Given the description of an element on the screen output the (x, y) to click on. 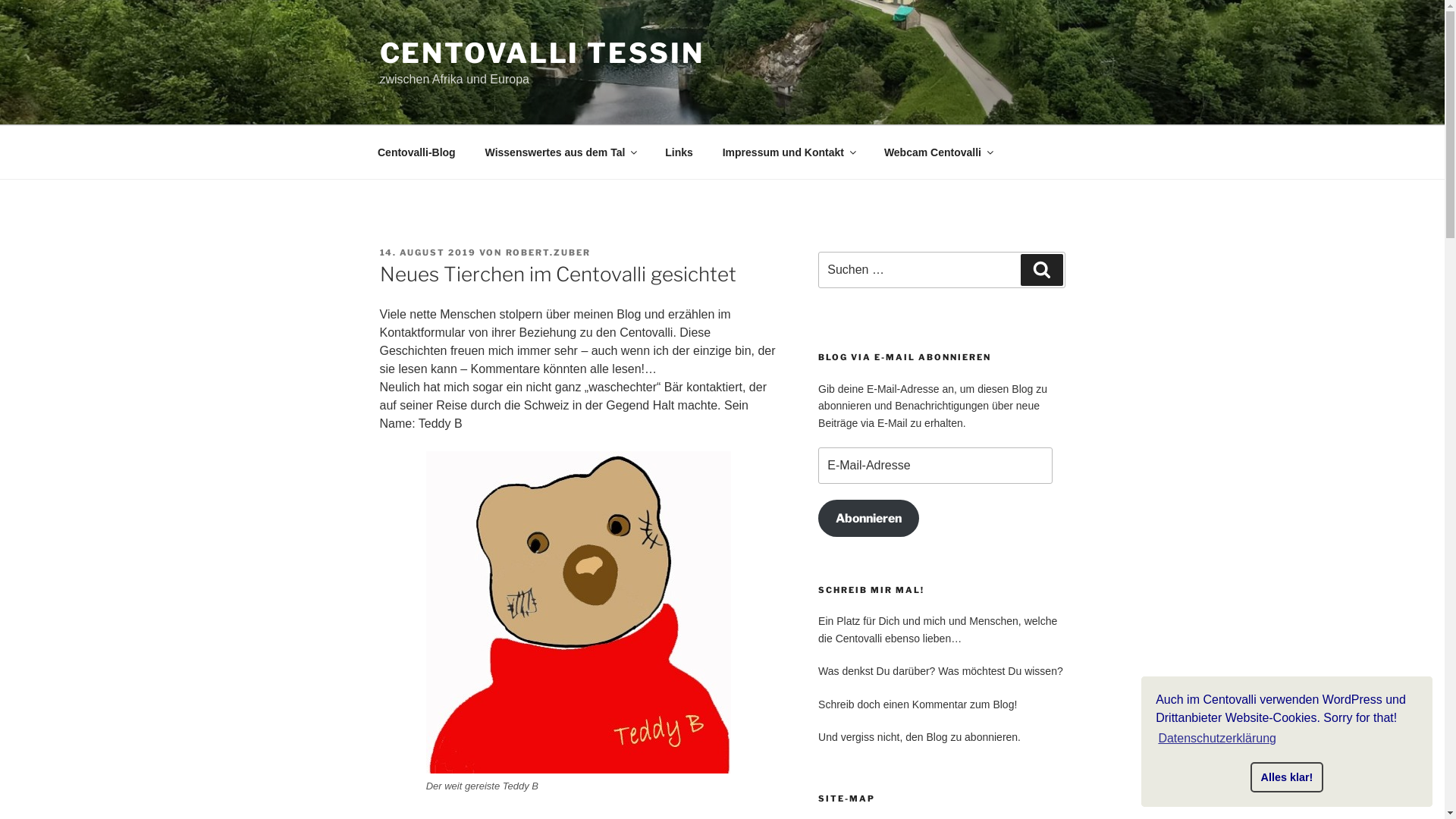
Suchen Element type: text (1041, 269)
Impressum und Kontakt Element type: text (788, 151)
Alles klar! Element type: text (1286, 777)
Webcam Centovalli Element type: text (937, 151)
Wissenswertes aus dem Tal Element type: text (560, 151)
ROBERT.ZUBER Element type: text (547, 252)
Centovalli-Blog Element type: text (416, 151)
Links Element type: text (679, 151)
Abonnieren Element type: text (868, 517)
14. AUGUST 2019 Element type: text (427, 252)
CENTOVALLI TESSIN Element type: text (541, 52)
